Given the description of an element on the screen output the (x, y) to click on. 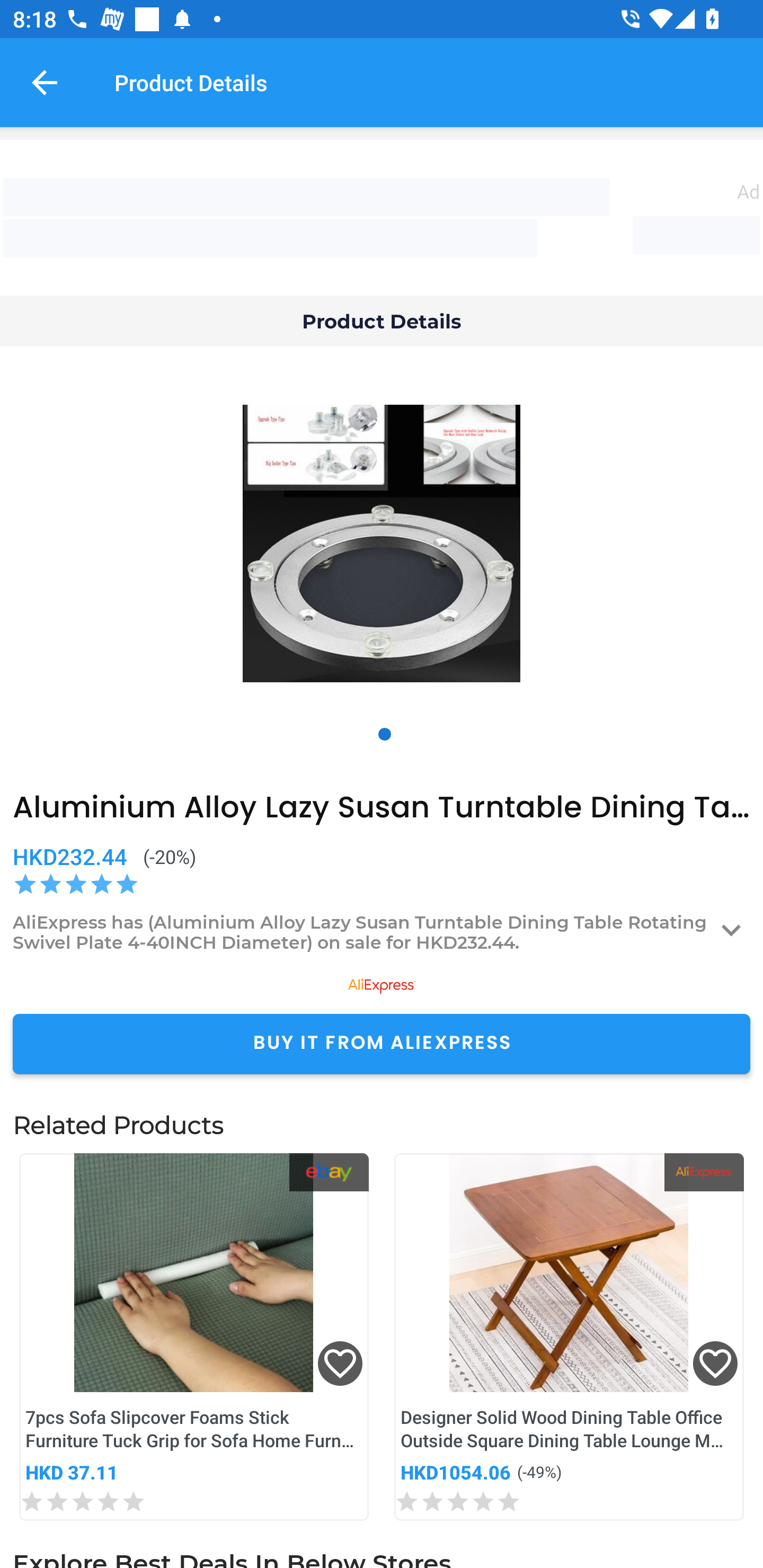
Navigate up (44, 82)
BUY IT FROM ALIEXPRESS (381, 1044)
